Given the description of an element on the screen output the (x, y) to click on. 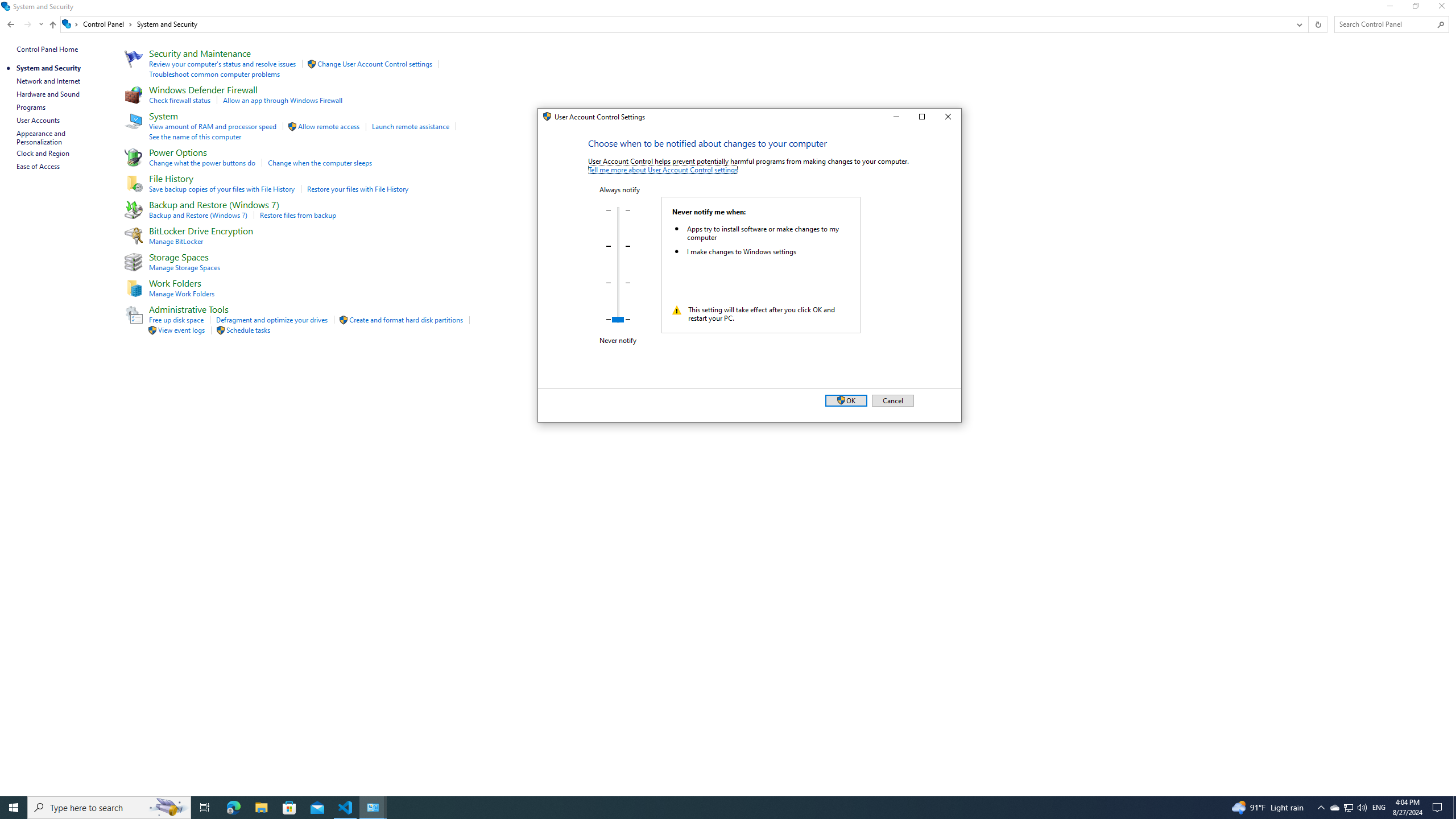
Tray Input Indicator - English (United States) (1378, 807)
Show desktop (1454, 807)
Type here to search (108, 807)
Microsoft Edge (233, 807)
Start (13, 807)
Task View (1333, 807)
Minimize (204, 807)
Control Panel - 2 running windows (1347, 807)
System (895, 116)
Close (373, 807)
Cancel (544, 119)
Page up (948, 116)
